Given the description of an element on the screen output the (x, y) to click on. 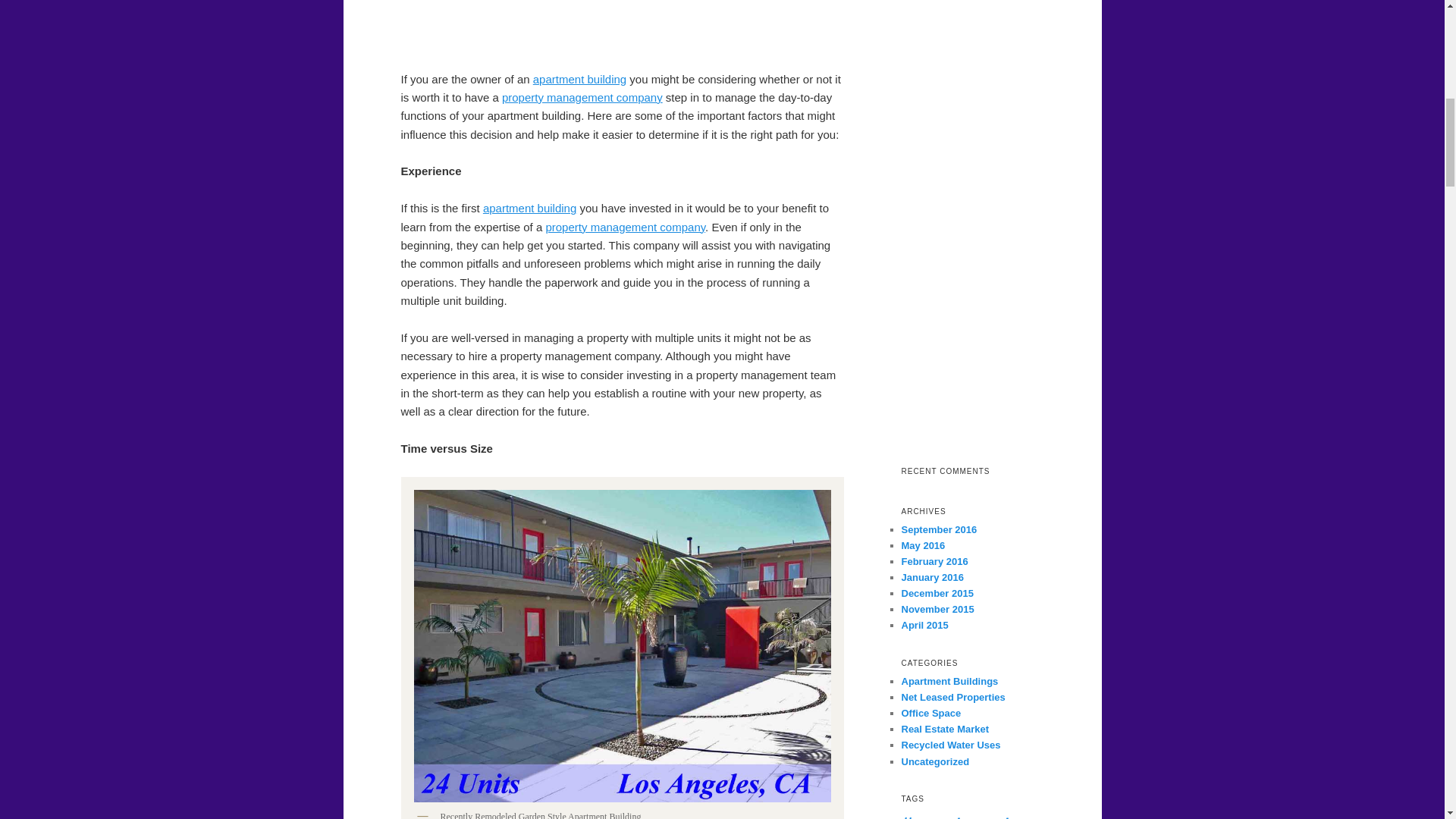
apartment building (529, 207)
Advertisement (621, 31)
property management company (624, 226)
property management company (582, 97)
apartment building (579, 78)
